Given the description of an element on the screen output the (x, y) to click on. 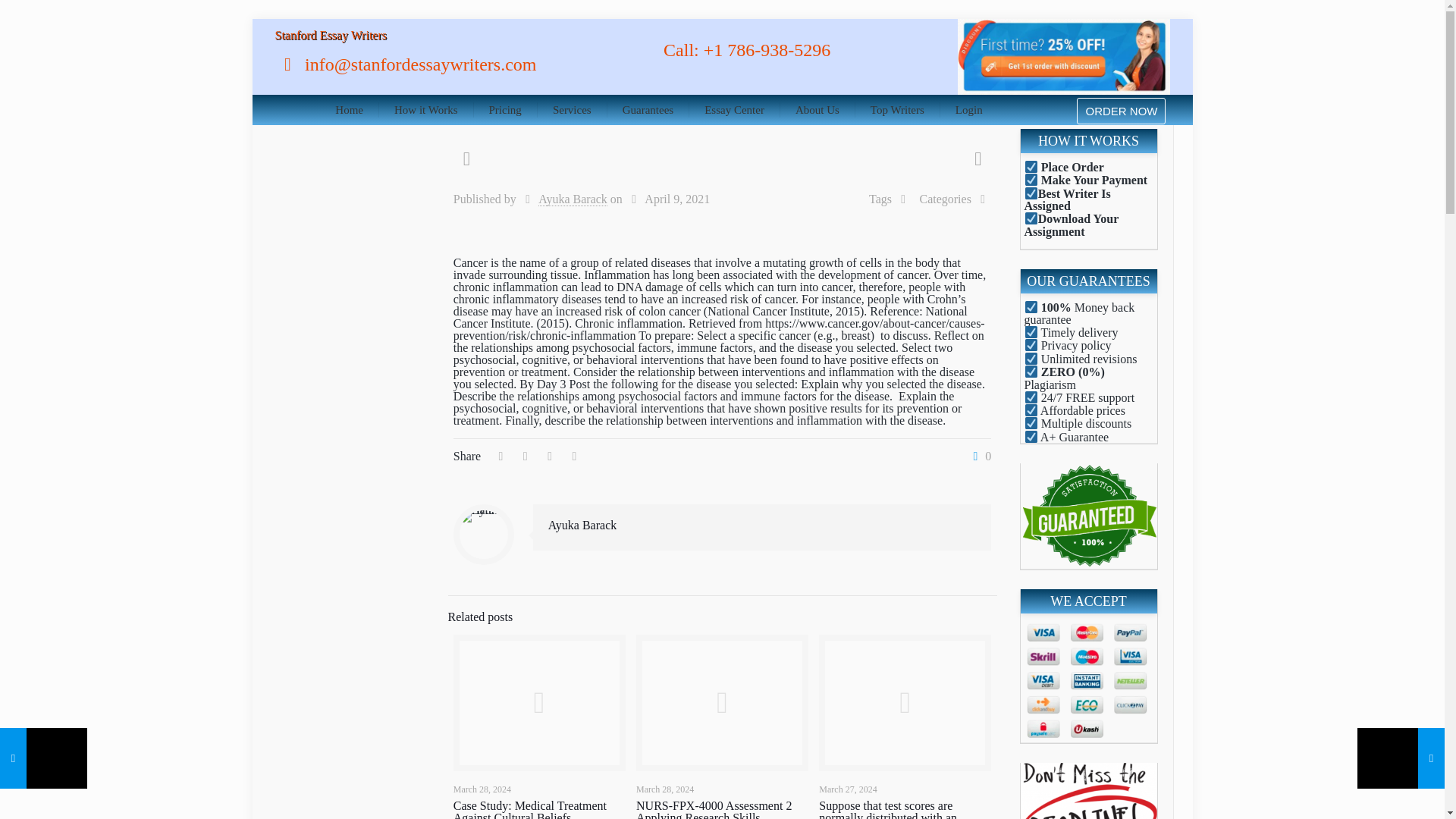
Services (572, 110)
Essay Center (734, 110)
Guarantees (647, 110)
Stanford Essay Writers (330, 34)
Top Writers (898, 110)
Login (968, 110)
How it Works (426, 110)
Home (349, 110)
Pricing (505, 110)
ORDER NOW (1121, 110)
